Given the description of an element on the screen output the (x, y) to click on. 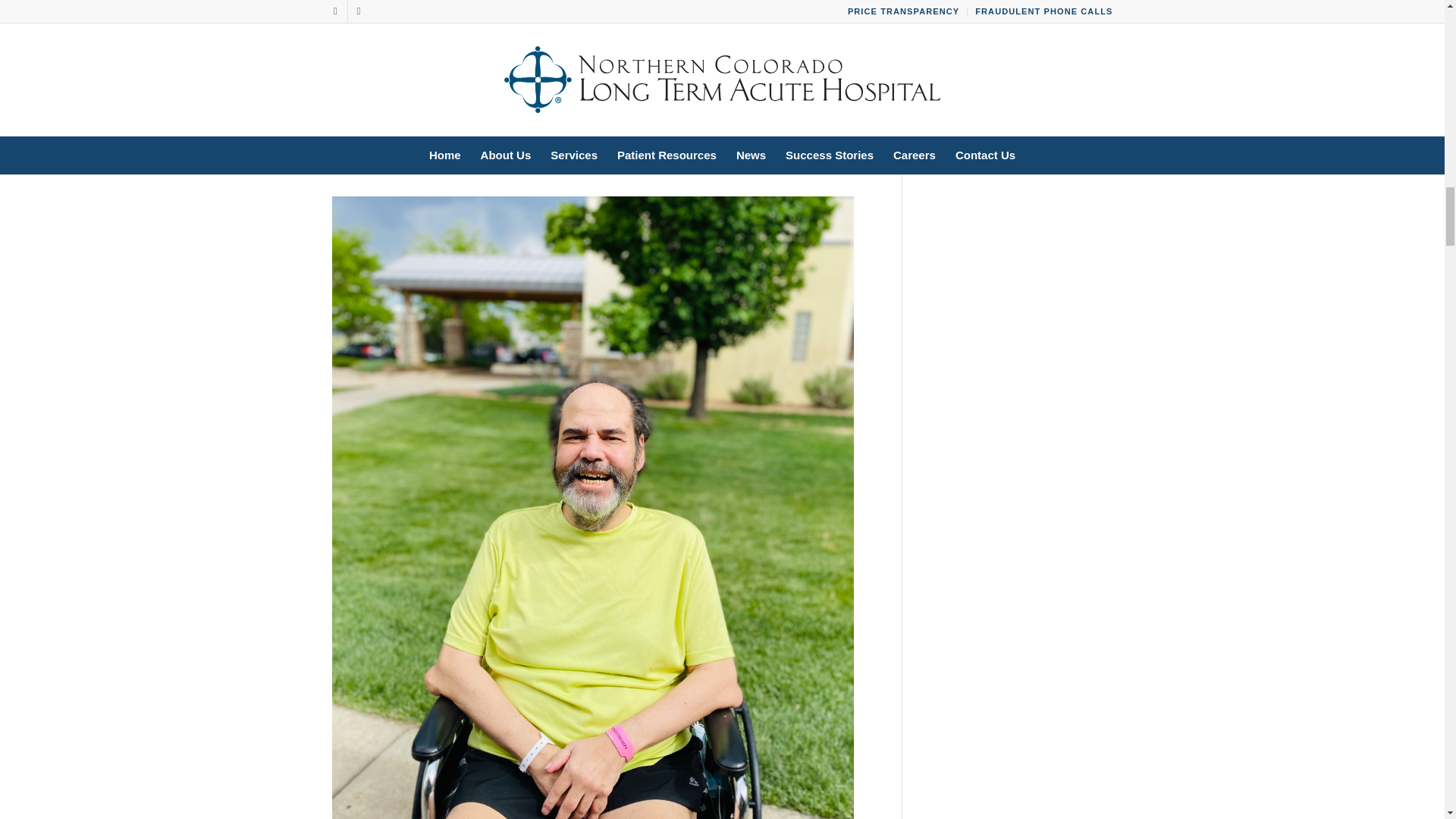
Luis-Pagan-scaled (597, 87)
